Given the description of an element on the screen output the (x, y) to click on. 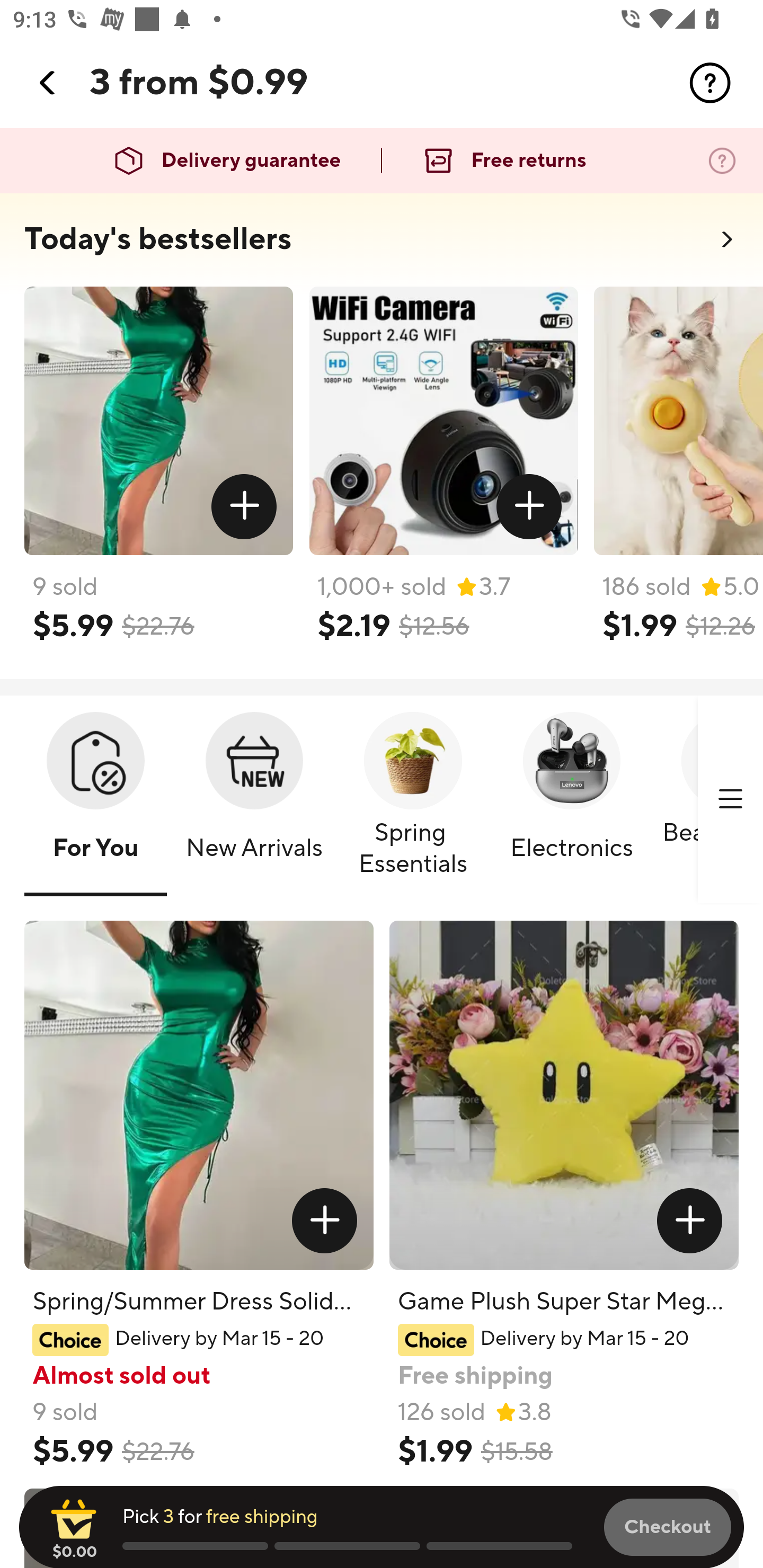
 (710, 82)
 (48, 82)
Today's bestsellers  Today's bestsellers  (381, 244)
Today's bestsellers (157, 239)
 (244, 506)
 (529, 506)
 (730, 799)
144x144.png_ For You (95, 800)
144x144.png_ New Arrivals (254, 800)
200x200.png_ Spring Essentials (412, 800)
300x300.png_ Electronics (571, 800)
 (323, 1220)
 (689, 1220)
